Given the description of an element on the screen output the (x, y) to click on. 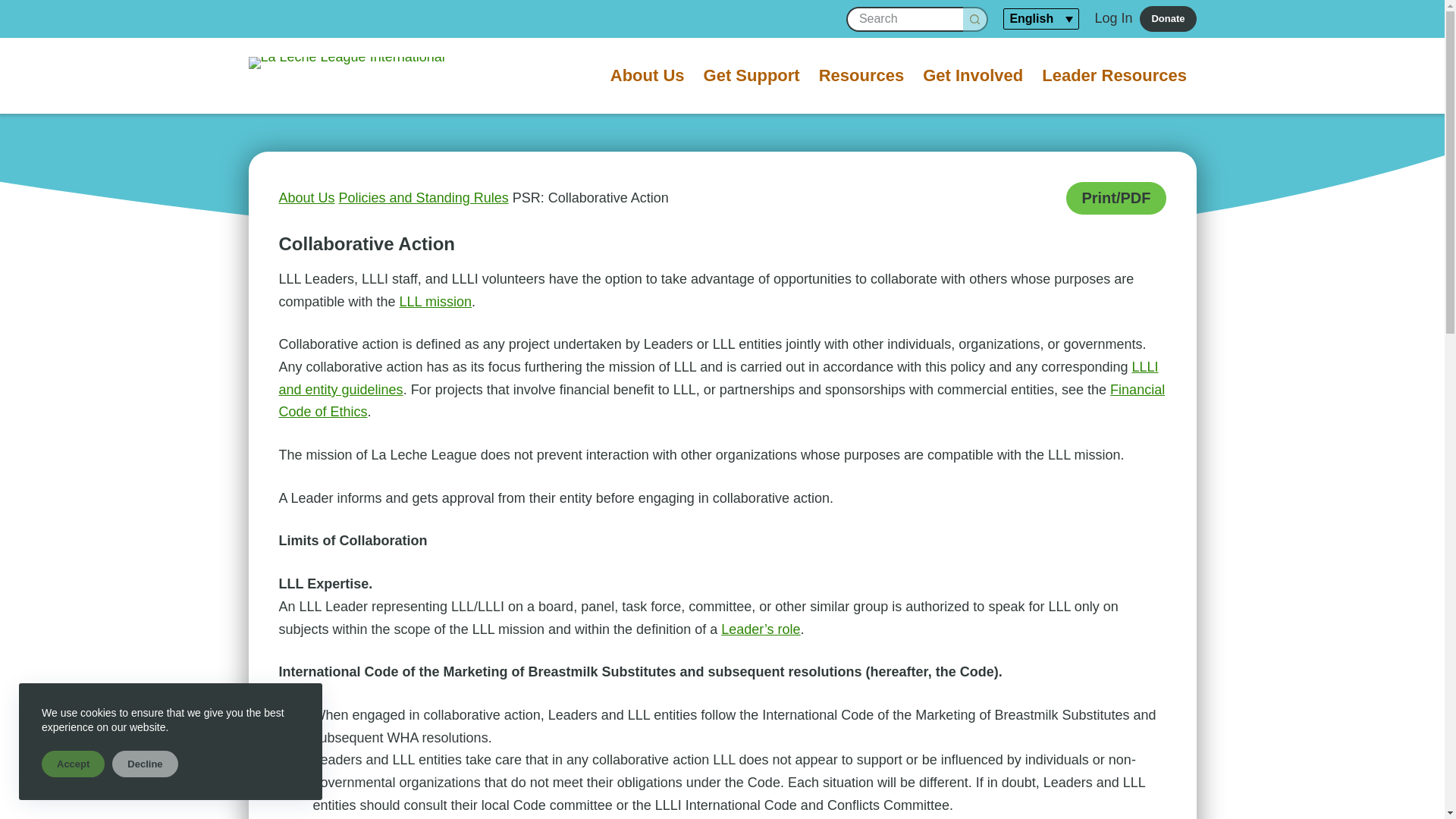
Skip to content (15, 7)
English (1041, 18)
Search for... (904, 18)
